Given the description of an element on the screen output the (x, y) to click on. 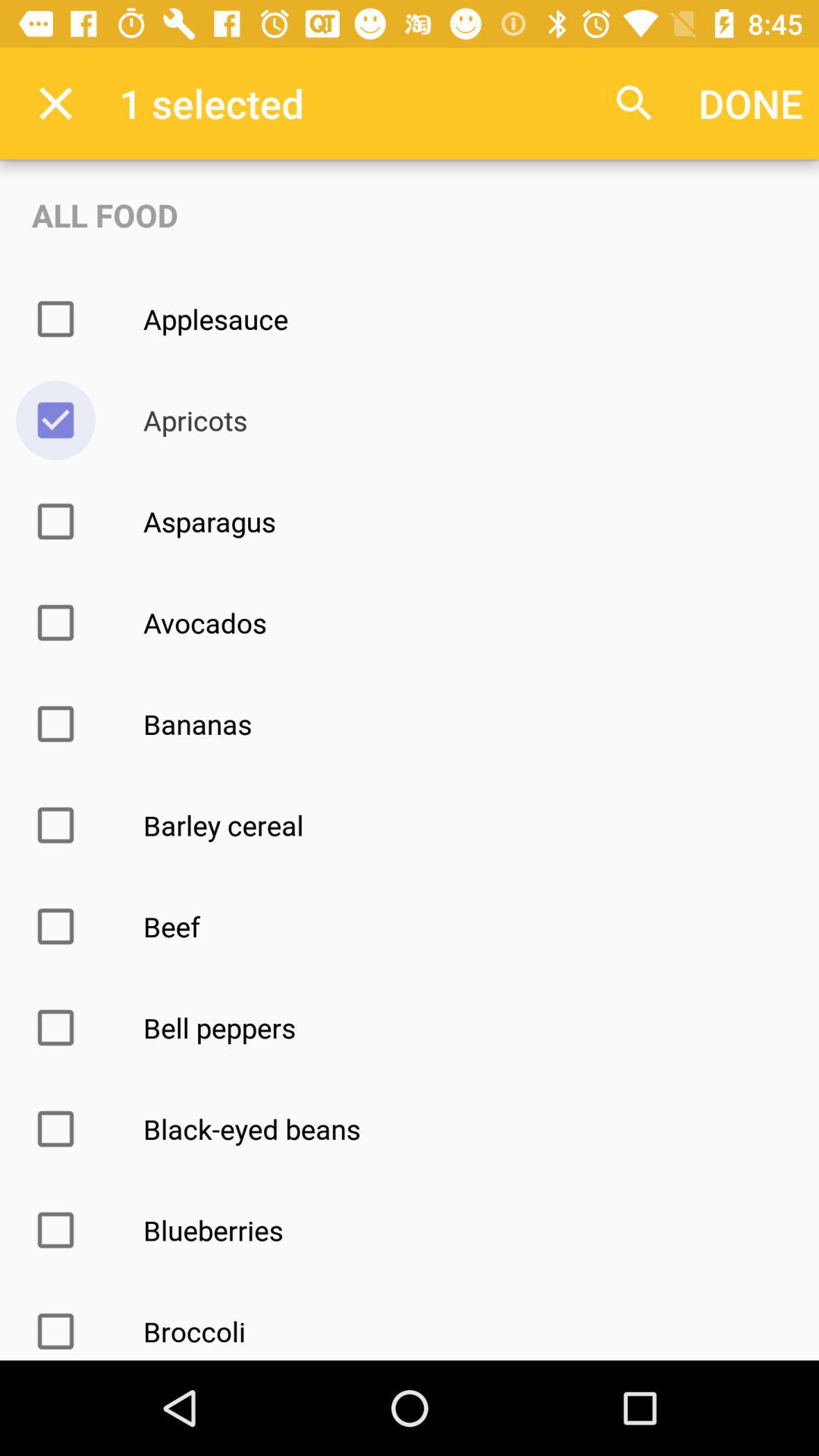
launch app to the left of the 1 selected icon (55, 103)
